Given the description of an element on the screen output the (x, y) to click on. 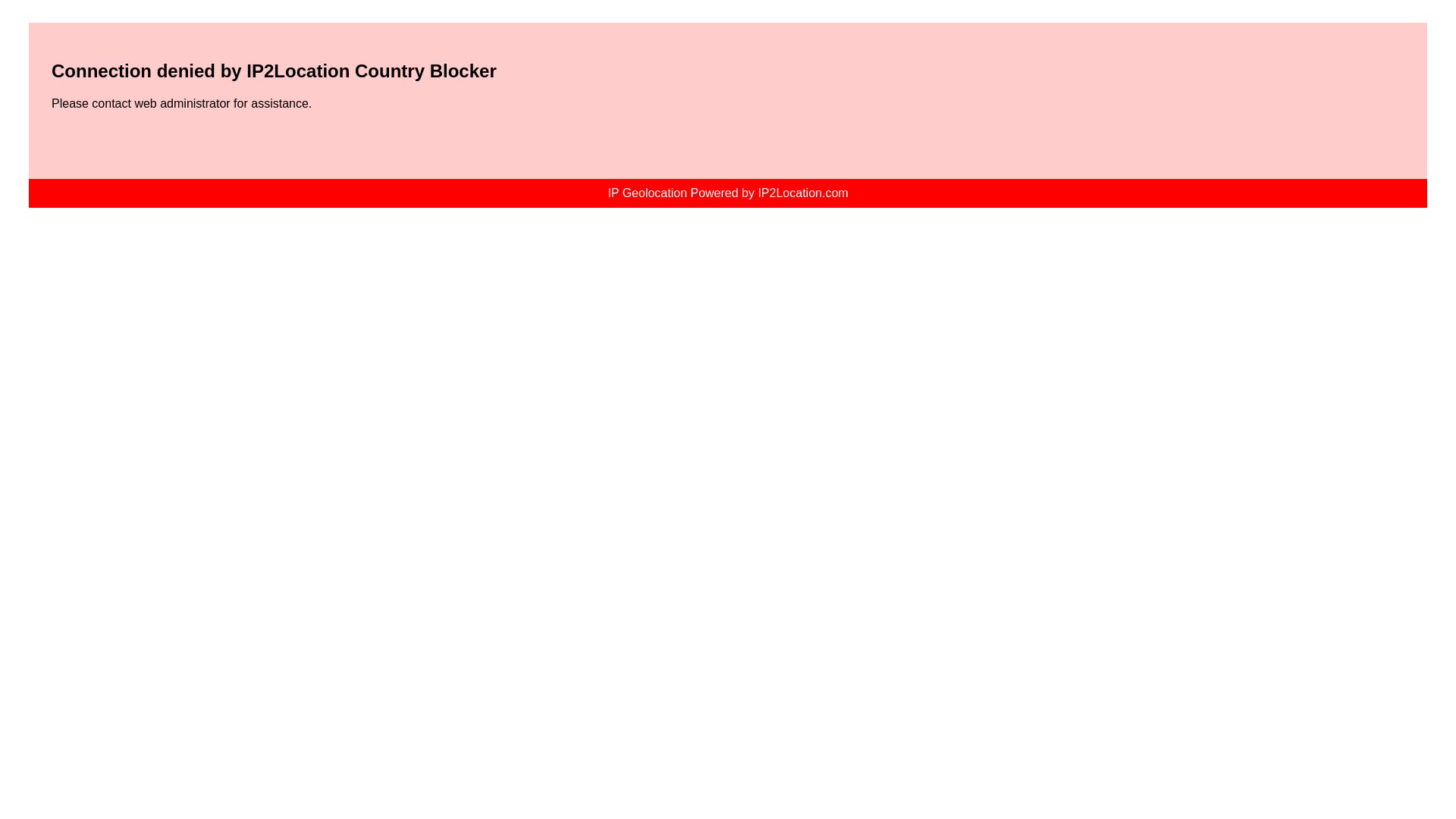
IP Geolocation Powered by IP2Location.com (727, 192)
